Given the description of an element on the screen output the (x, y) to click on. 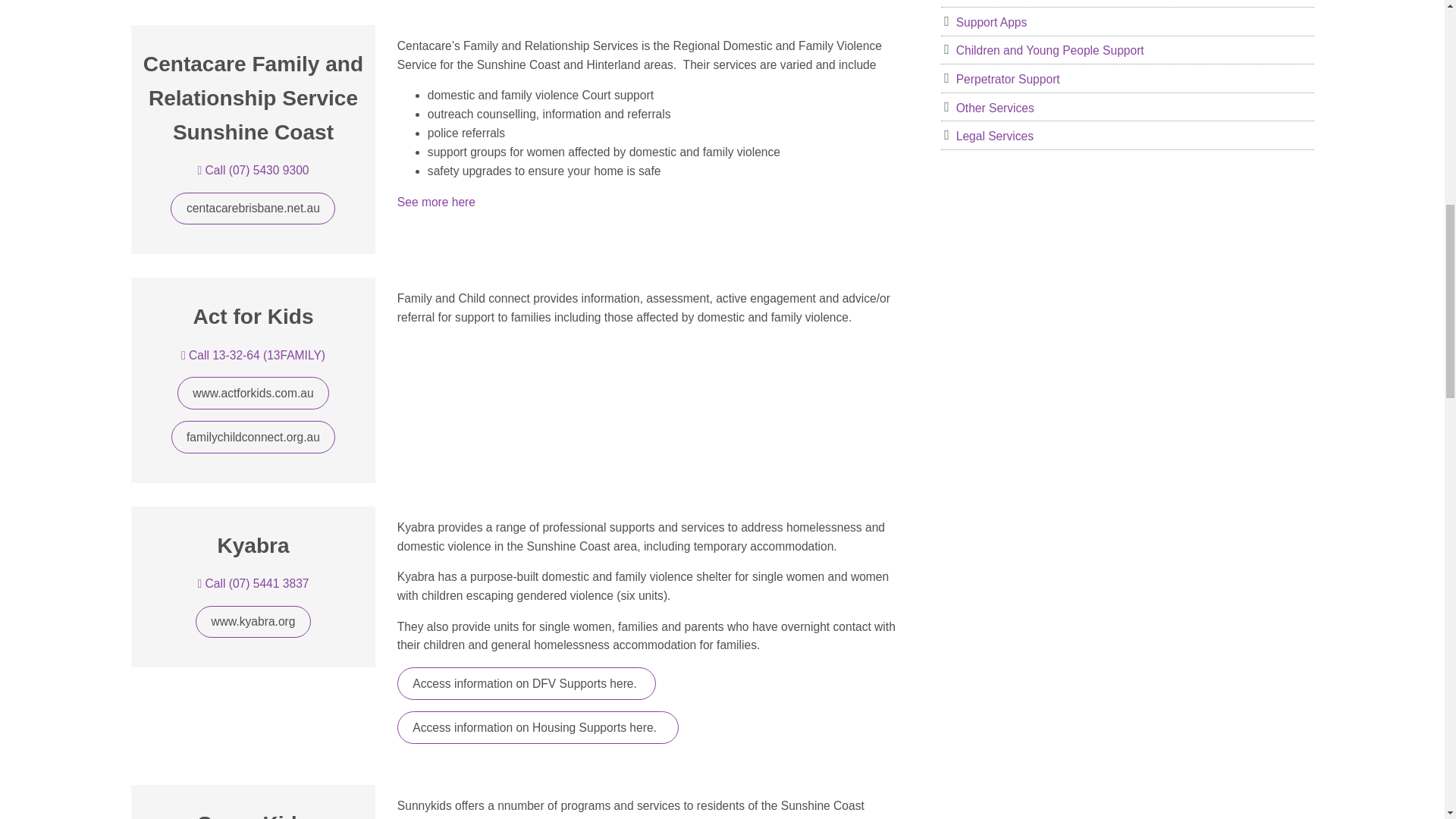
Perpetrator Support (1126, 79)
Children and Young People Support (1126, 50)
Other Services (1126, 108)
Legal Services (1126, 136)
Support Apps (1126, 22)
